Given the description of an element on the screen output the (x, y) to click on. 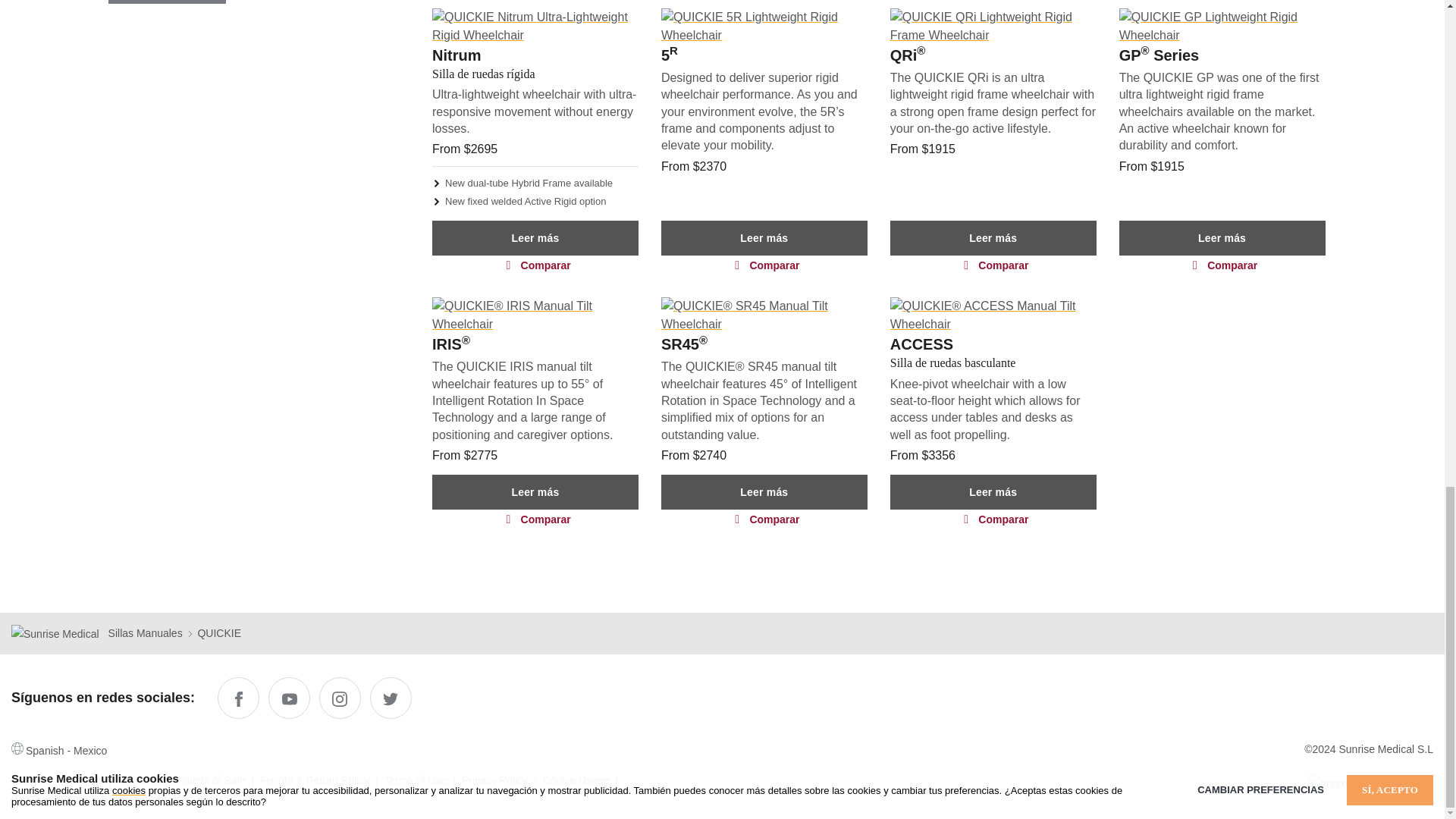
Comparar - ACCESS (992, 518)
Comparar - Nitrum (535, 264)
Apply Filters (166, 2)
